Given the description of an element on the screen output the (x, y) to click on. 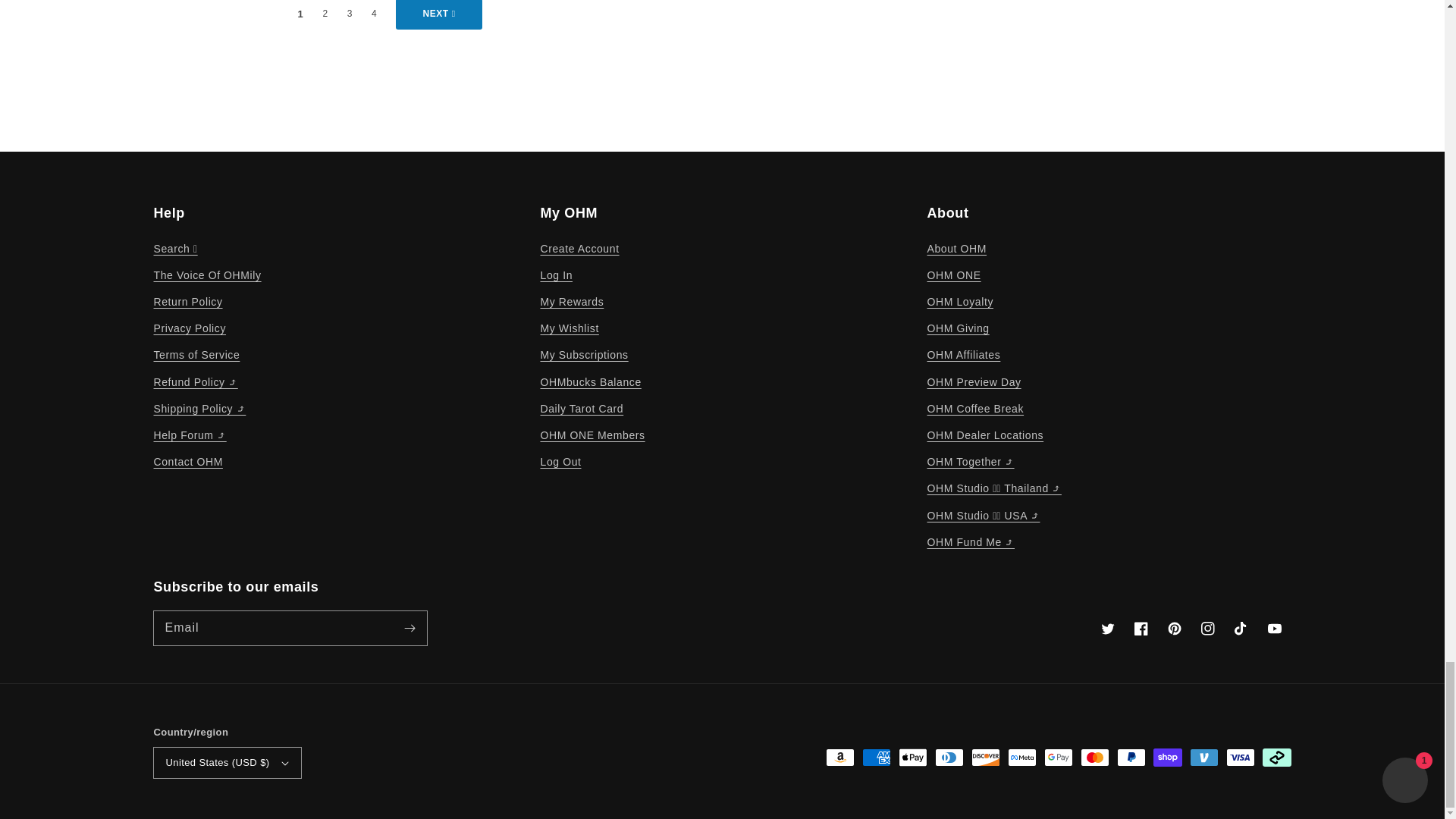
Next page (438, 15)
